Given the description of an element on the screen output the (x, y) to click on. 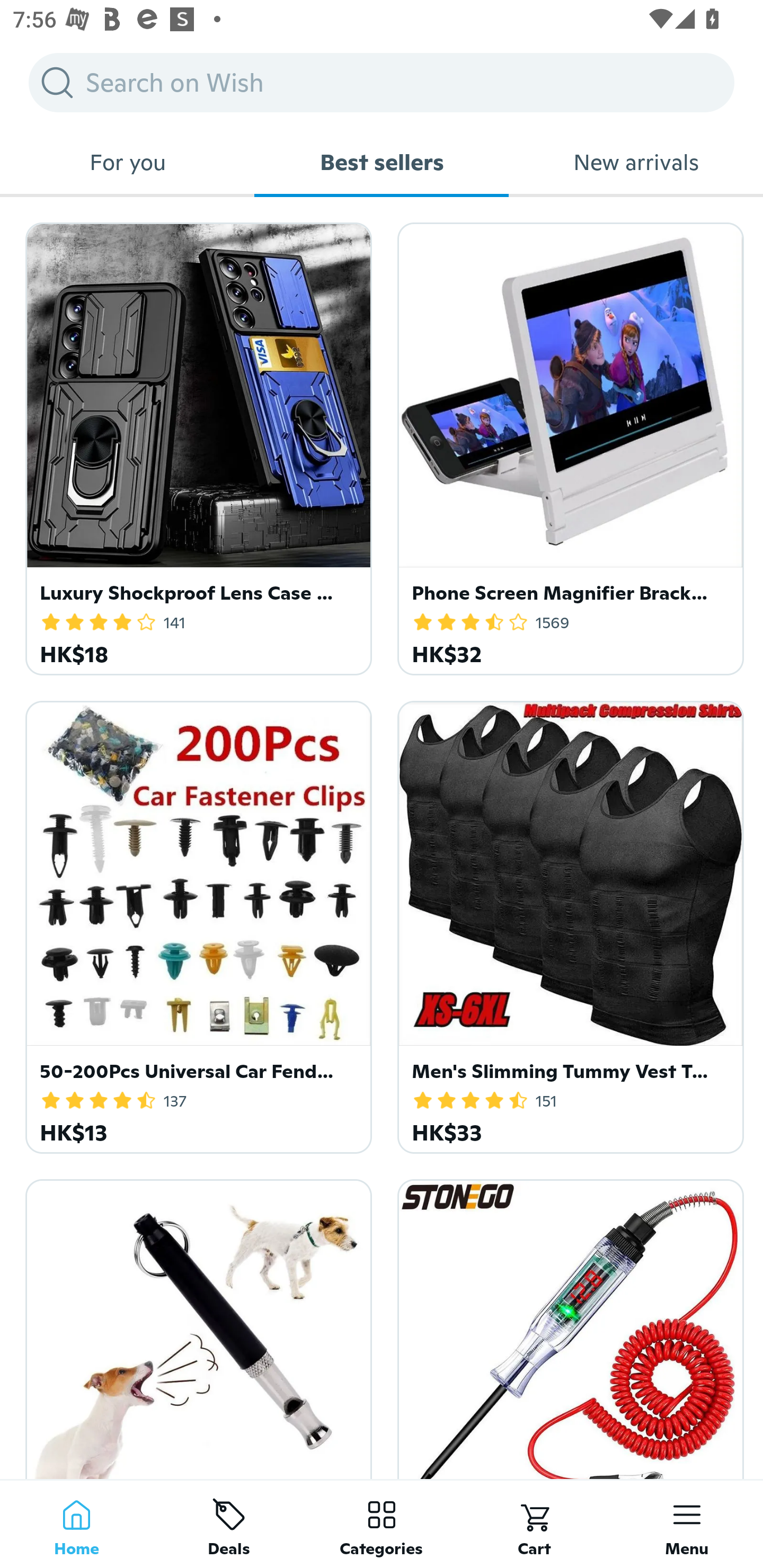
Search on Wish (381, 82)
For you (127, 161)
Best sellers (381, 161)
New arrivals (635, 161)
Home (76, 1523)
Deals (228, 1523)
Categories (381, 1523)
Cart (533, 1523)
Menu (686, 1523)
